Given the description of an element on the screen output the (x, y) to click on. 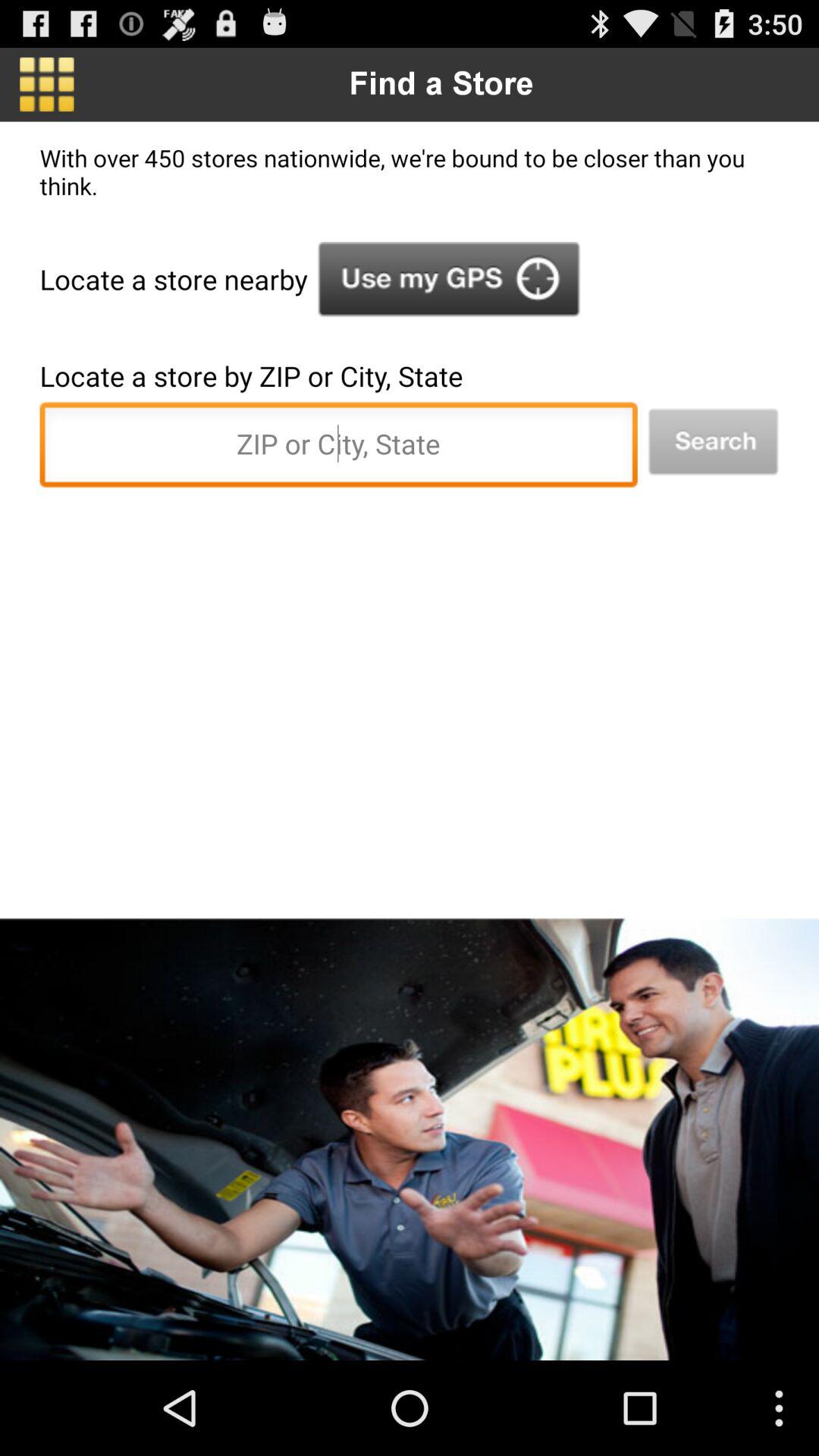
gps (448, 279)
